Given the description of an element on the screen output the (x, y) to click on. 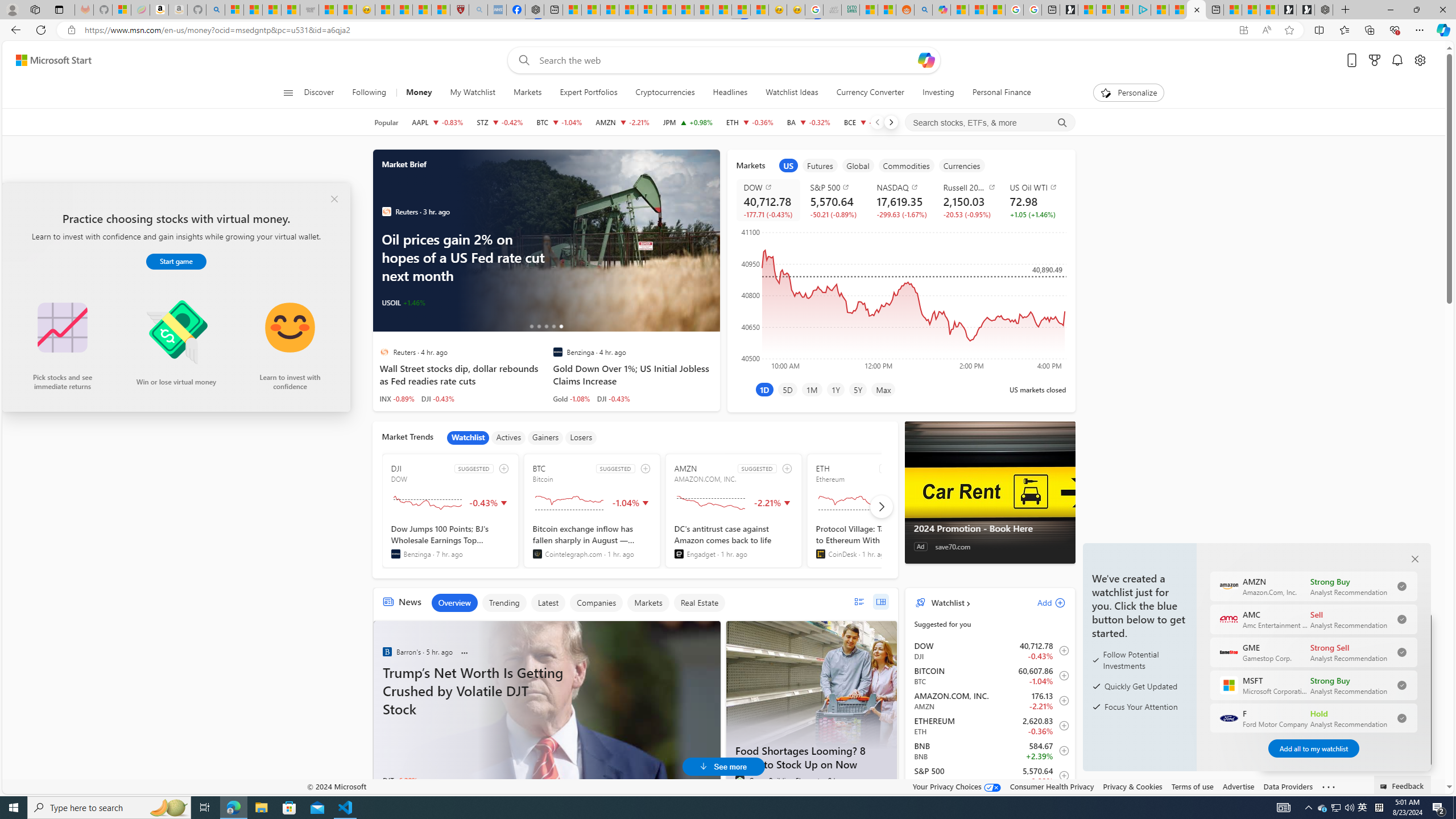
Markets (526, 92)
Back (13, 29)
Investing (937, 92)
Cryptocurrencies (664, 92)
Enter your search term (726, 59)
DOW DJI decrease 40,712.78 -177.71 -0.43% (767, 200)
Watchlist (467, 437)
CoinDesk (820, 553)
New Tab (1346, 9)
item5 (962, 164)
Money (418, 92)
Nordace - Nordace Siena Is Not An Ordinary Backpack (1324, 9)
Feedback (1402, 784)
